Given the description of an element on the screen output the (x, y) to click on. 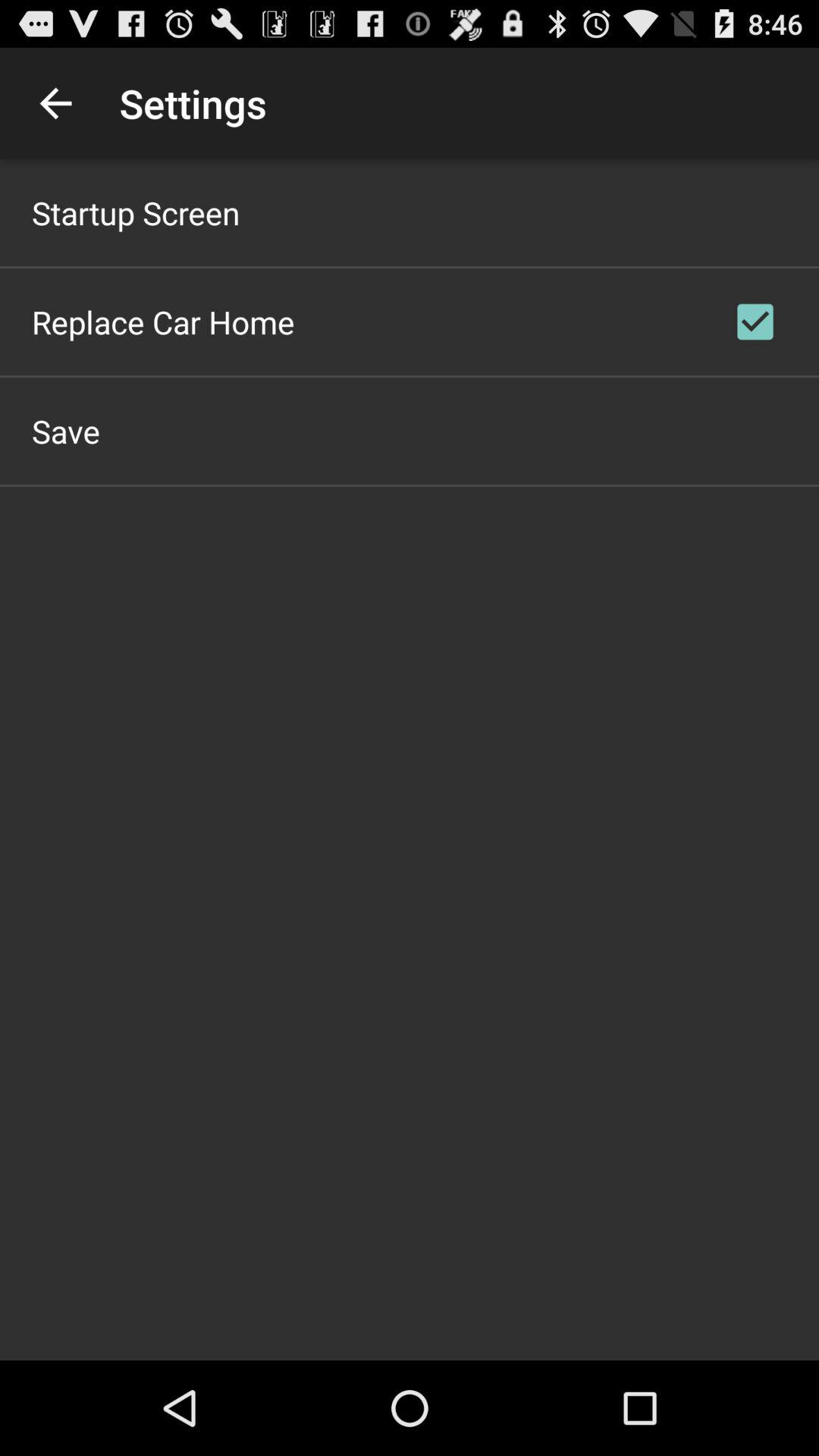
turn off the app below replace car home item (65, 430)
